Given the description of an element on the screen output the (x, y) to click on. 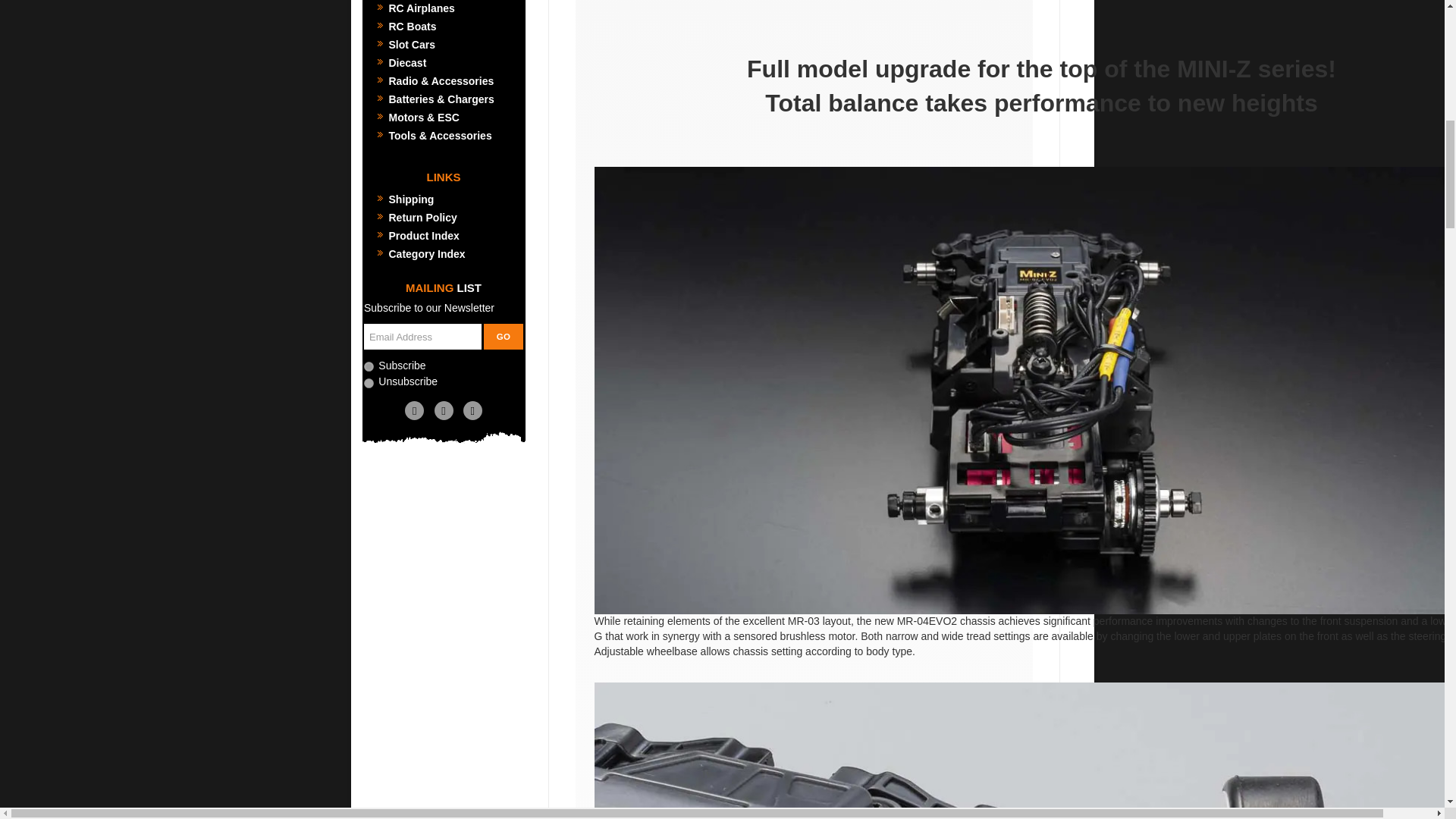
Subscribe to our Channel (442, 410)
Like Us on Facebook (413, 410)
1 (369, 366)
Follow Us on Instagram (472, 410)
0 (369, 383)
